Given the description of an element on the screen output the (x, y) to click on. 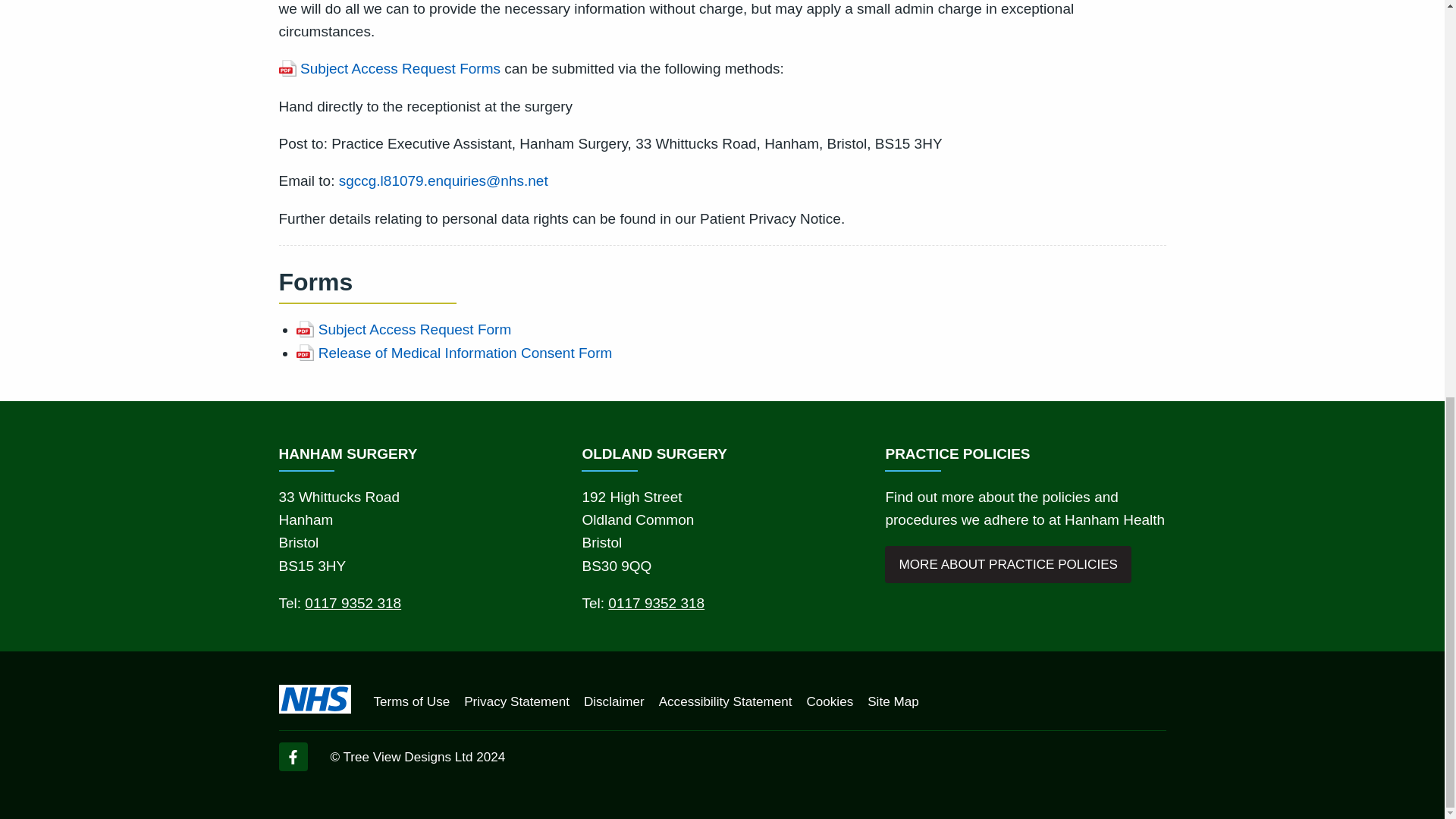
Disclaimer (614, 701)
Release of Medical Information Consent Form (454, 353)
0117 9352 318 (352, 602)
The NHS Logo (314, 698)
Site Map (892, 701)
Terms of Use (410, 701)
Subject Access Request Form (404, 329)
MORE ABOUT PRACTICE POLICIES (1008, 564)
Subject Access Request Forms (389, 68)
Privacy Statement (516, 701)
